Given the description of an element on the screen output the (x, y) to click on. 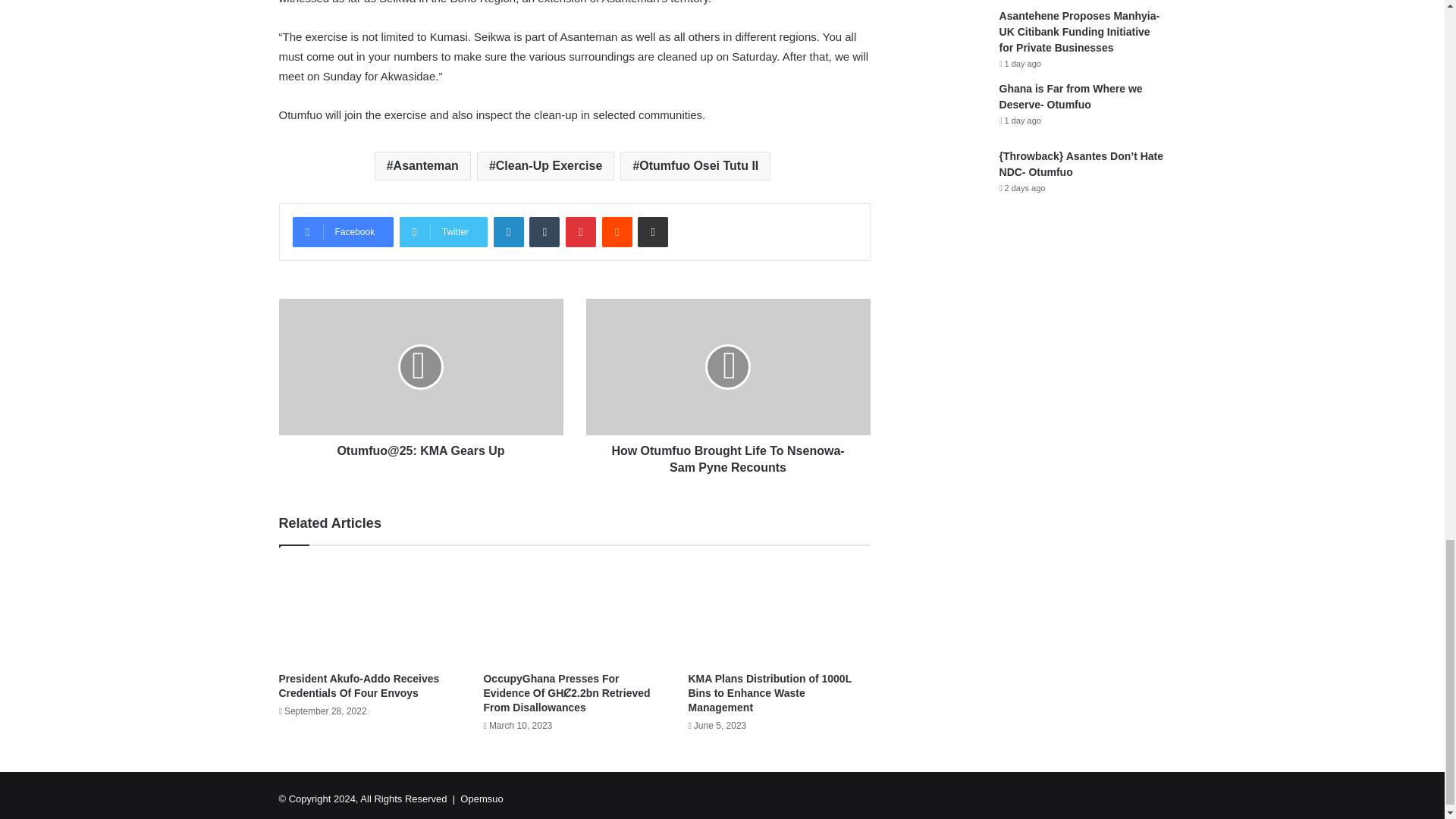
Twitter (442, 232)
LinkedIn (508, 232)
Tumblr (544, 232)
Share via Email (652, 232)
Reddit (616, 232)
Facebook (343, 232)
Pinterest (580, 232)
